Given the description of an element on the screen output the (x, y) to click on. 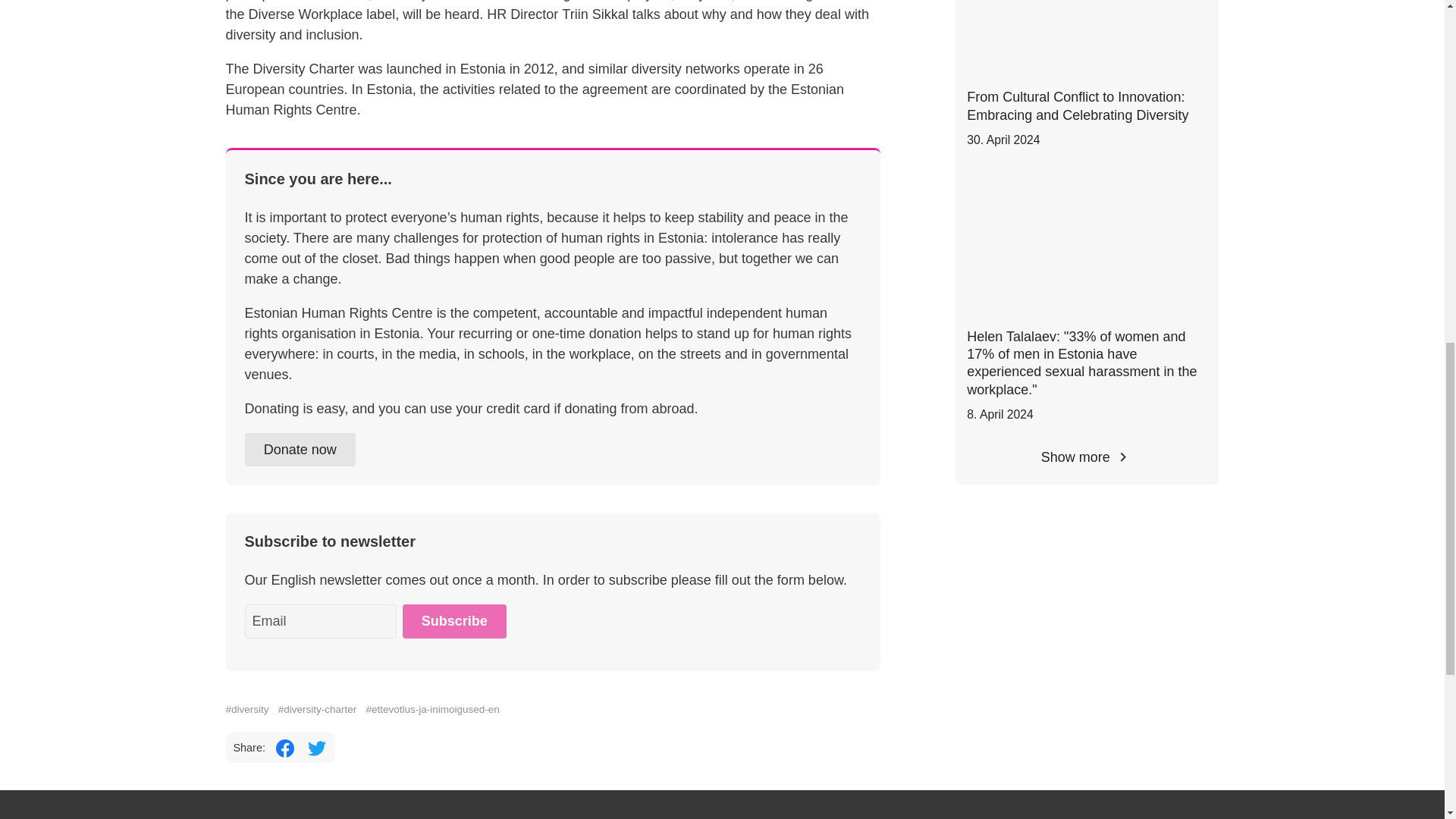
Subscribe (453, 621)
Subscribe (453, 621)
Email (320, 621)
Donate now (299, 449)
